Given the description of an element on the screen output the (x, y) to click on. 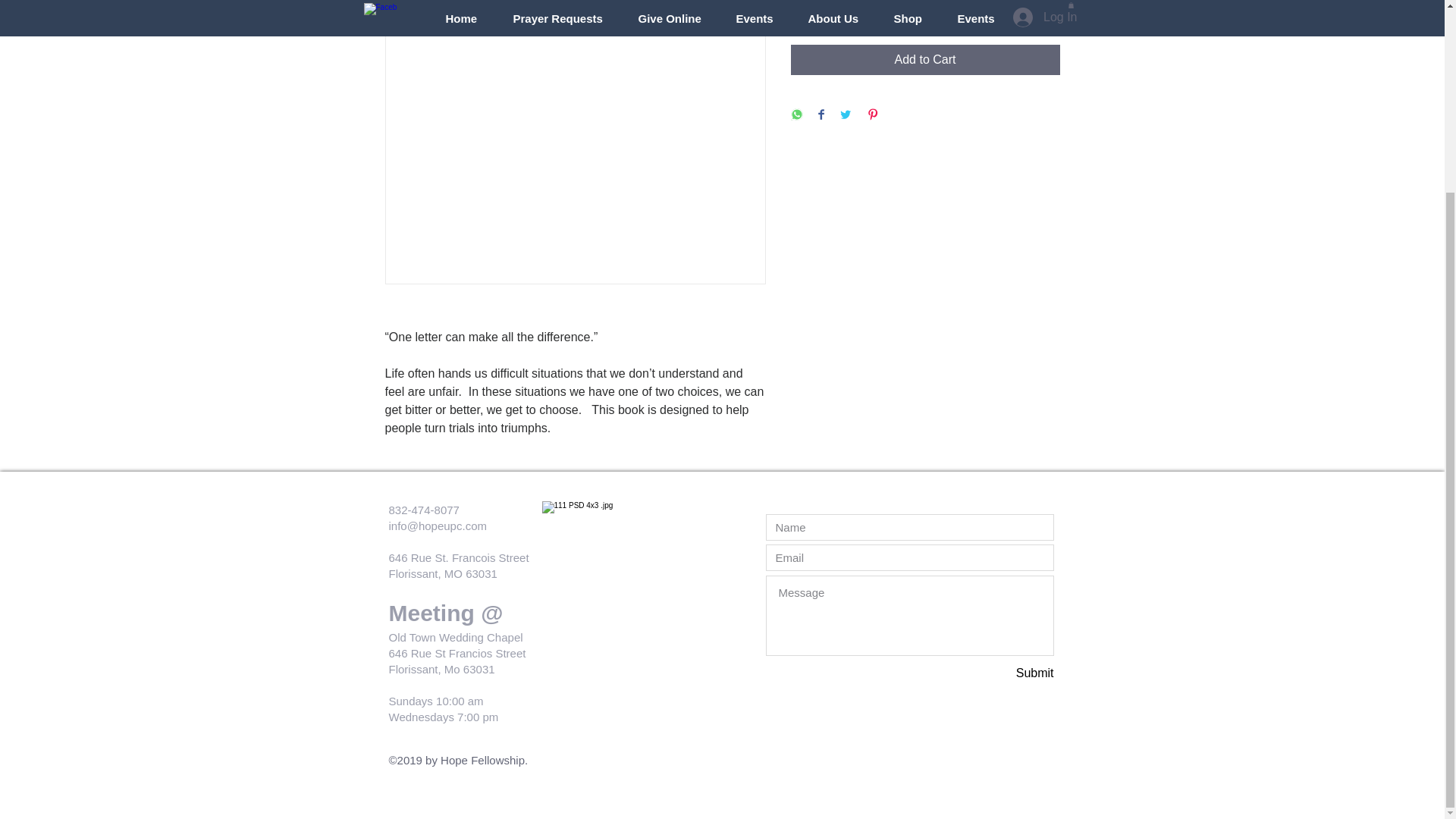
Submit (1000, 673)
1 (818, 10)
Add to Cart (924, 60)
